Given the description of an element on the screen output the (x, y) to click on. 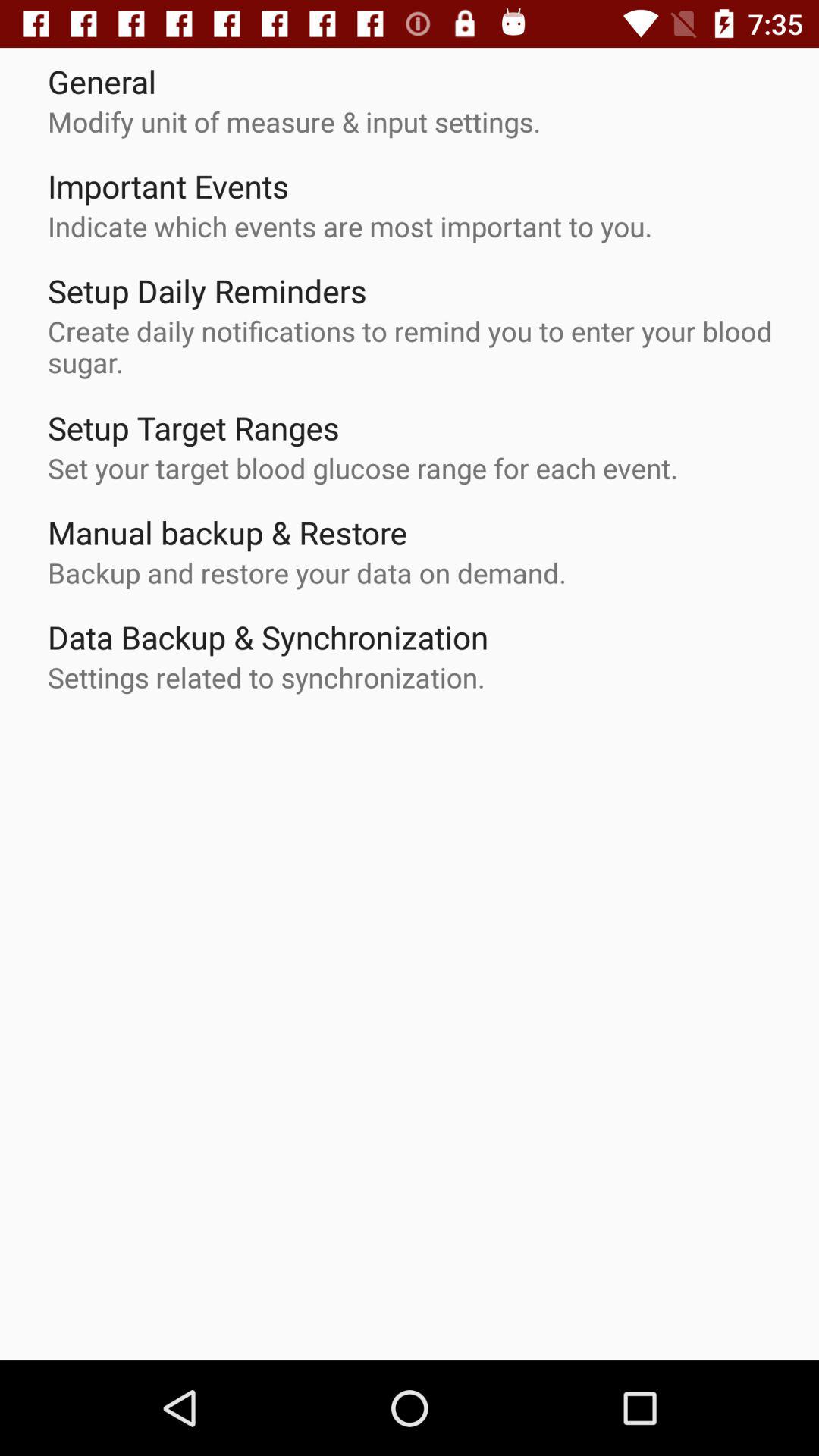
launch indicate which events app (349, 226)
